Given the description of an element on the screen output the (x, y) to click on. 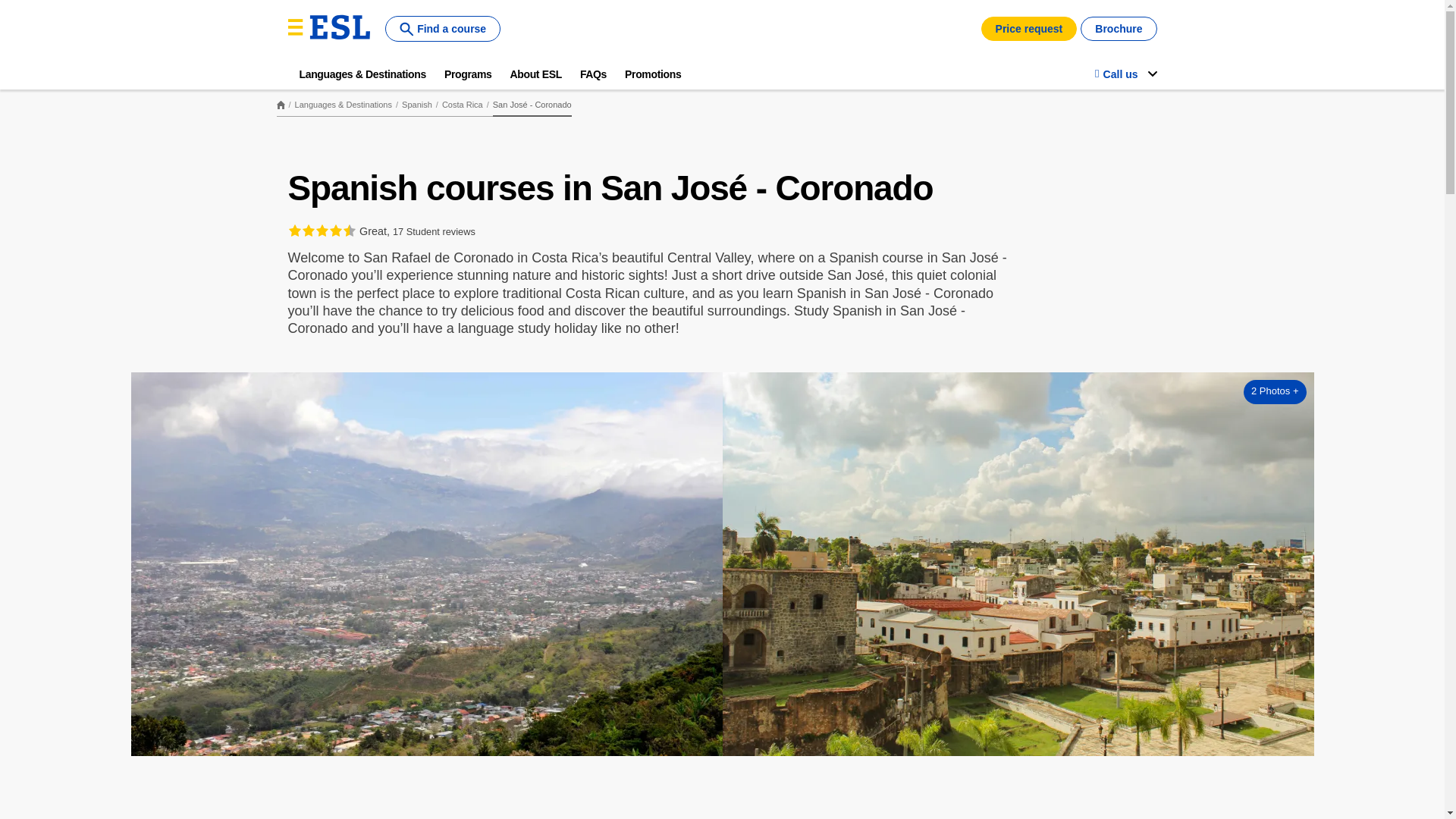
Find a course (442, 28)
Price request (1029, 28)
Brochure (1118, 28)
